Given the description of an element on the screen output the (x, y) to click on. 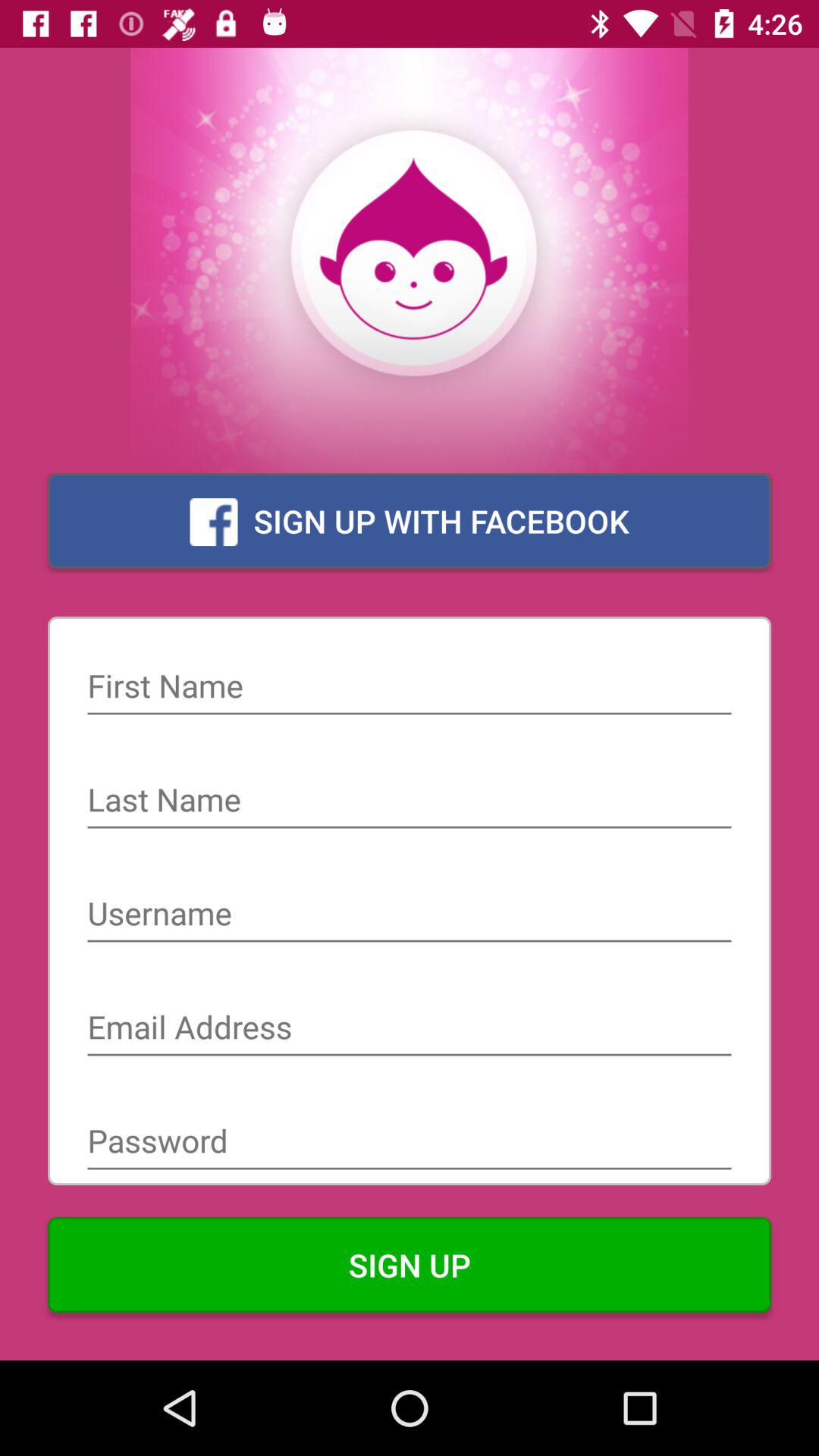
press the item above the sign up icon (409, 1142)
